Given the description of an element on the screen output the (x, y) to click on. 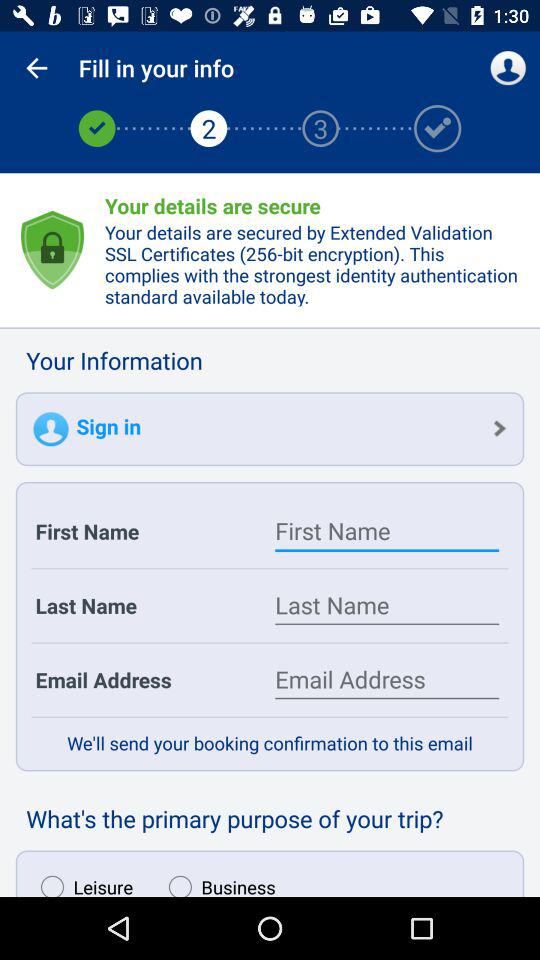
enter last name (387, 605)
